Given the description of an element on the screen output the (x, y) to click on. 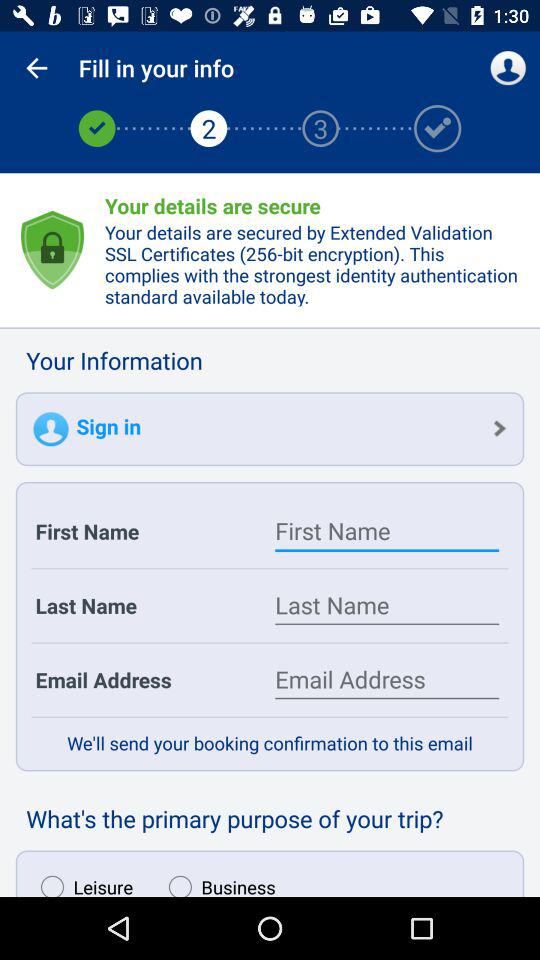
enter last name (387, 605)
